Given the description of an element on the screen output the (x, y) to click on. 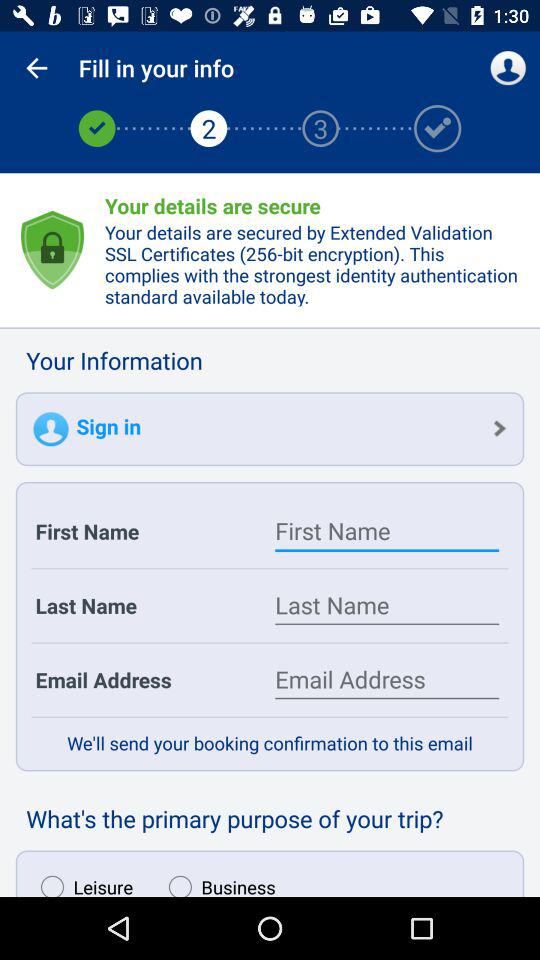
enter last name (387, 605)
